Given the description of an element on the screen output the (x, y) to click on. 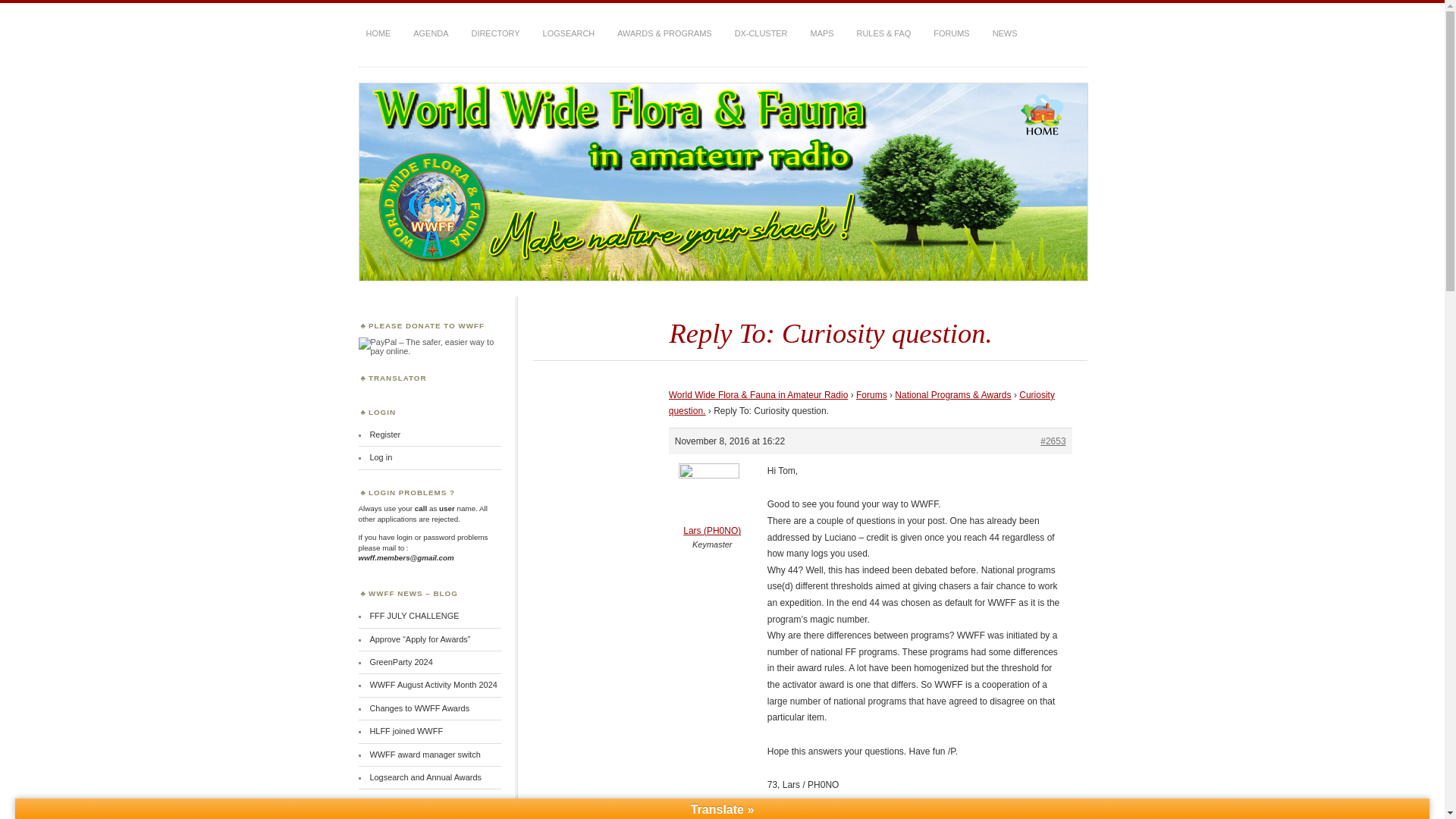
WWFF (403, 73)
WWFF (403, 73)
LOGSEARCH (568, 33)
Curiosity question. (861, 402)
NEWS (1005, 33)
AGENDA (430, 33)
HOME (377, 33)
DX-CLUSTER (760, 33)
DIRECTORY (495, 33)
Forums (871, 394)
MAPS (822, 33)
FORUMS (951, 33)
